Given the description of an element on the screen output the (x, y) to click on. 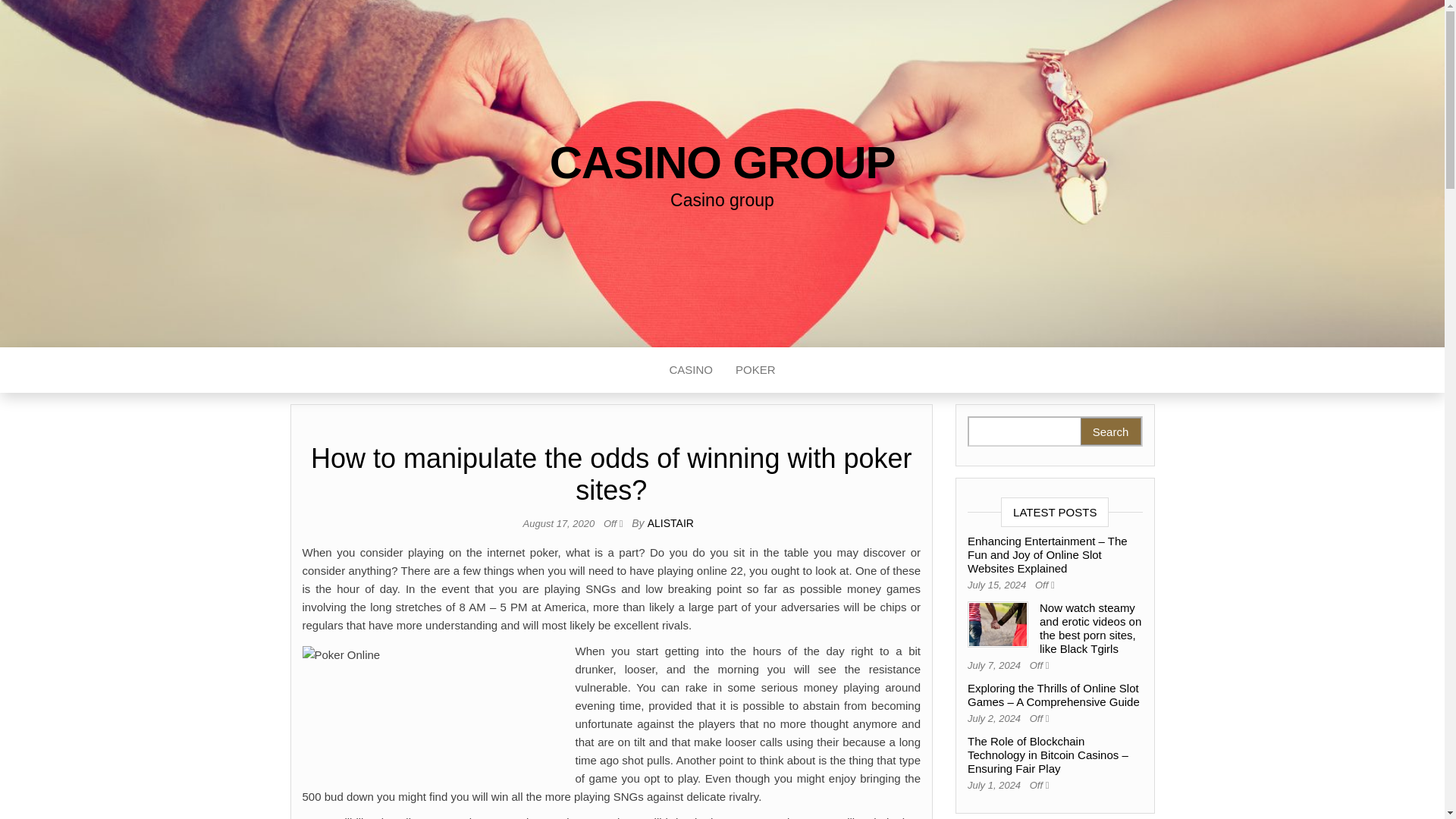
CASINO GROUP (722, 162)
Casino (690, 370)
Poker (755, 370)
ALISTAIR (670, 522)
Search (1110, 431)
Search (1110, 431)
CASINO (690, 370)
POKER (755, 370)
